Given the description of an element on the screen output the (x, y) to click on. 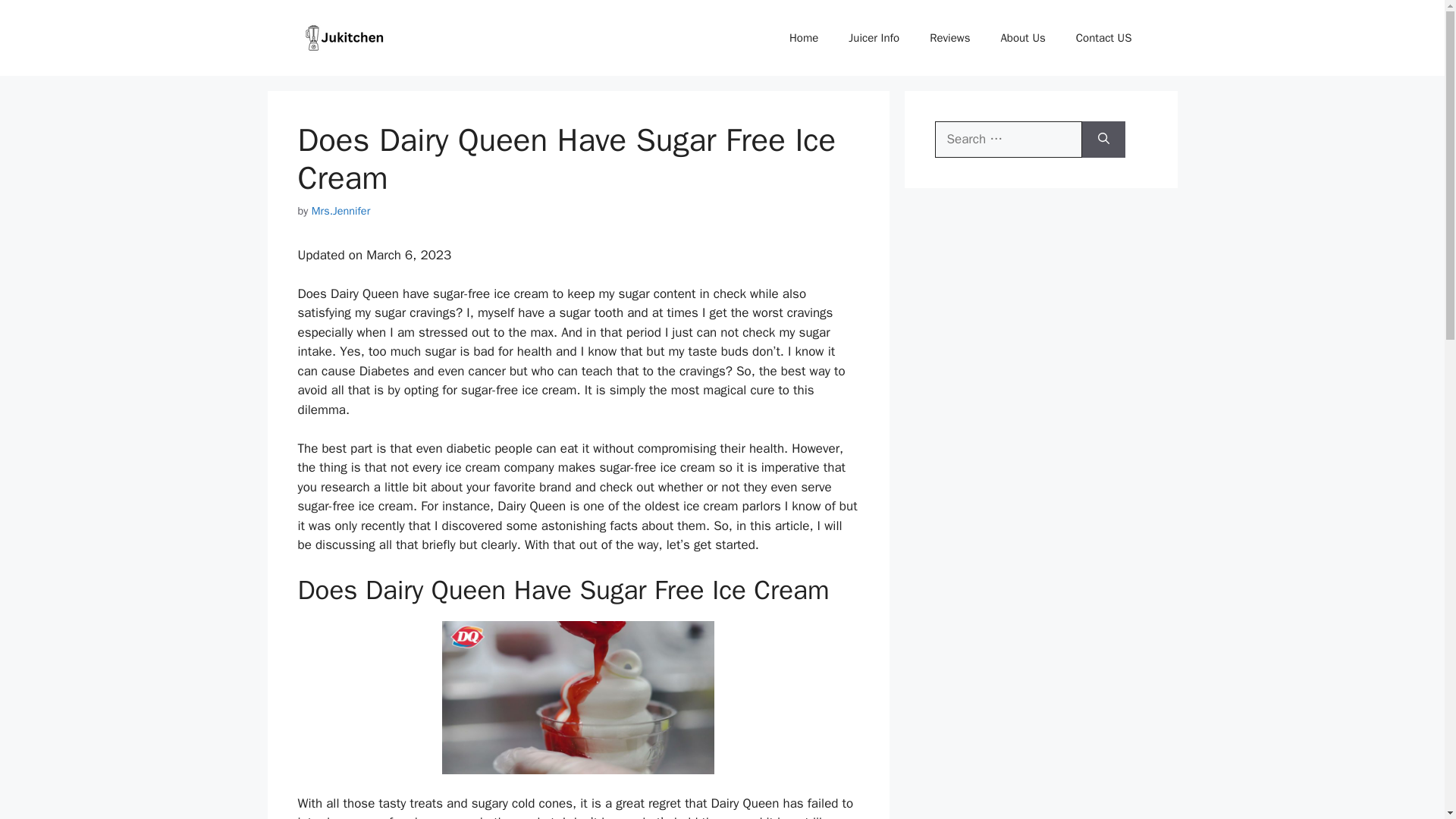
Juicer Info (873, 37)
About Us (1022, 37)
Home (803, 37)
Reviews (949, 37)
Search for: (1007, 139)
Contact US (1104, 37)
View all posts by Mrs.Jennifer (341, 210)
Mrs.Jennifer (341, 210)
